Given the description of an element on the screen output the (x, y) to click on. 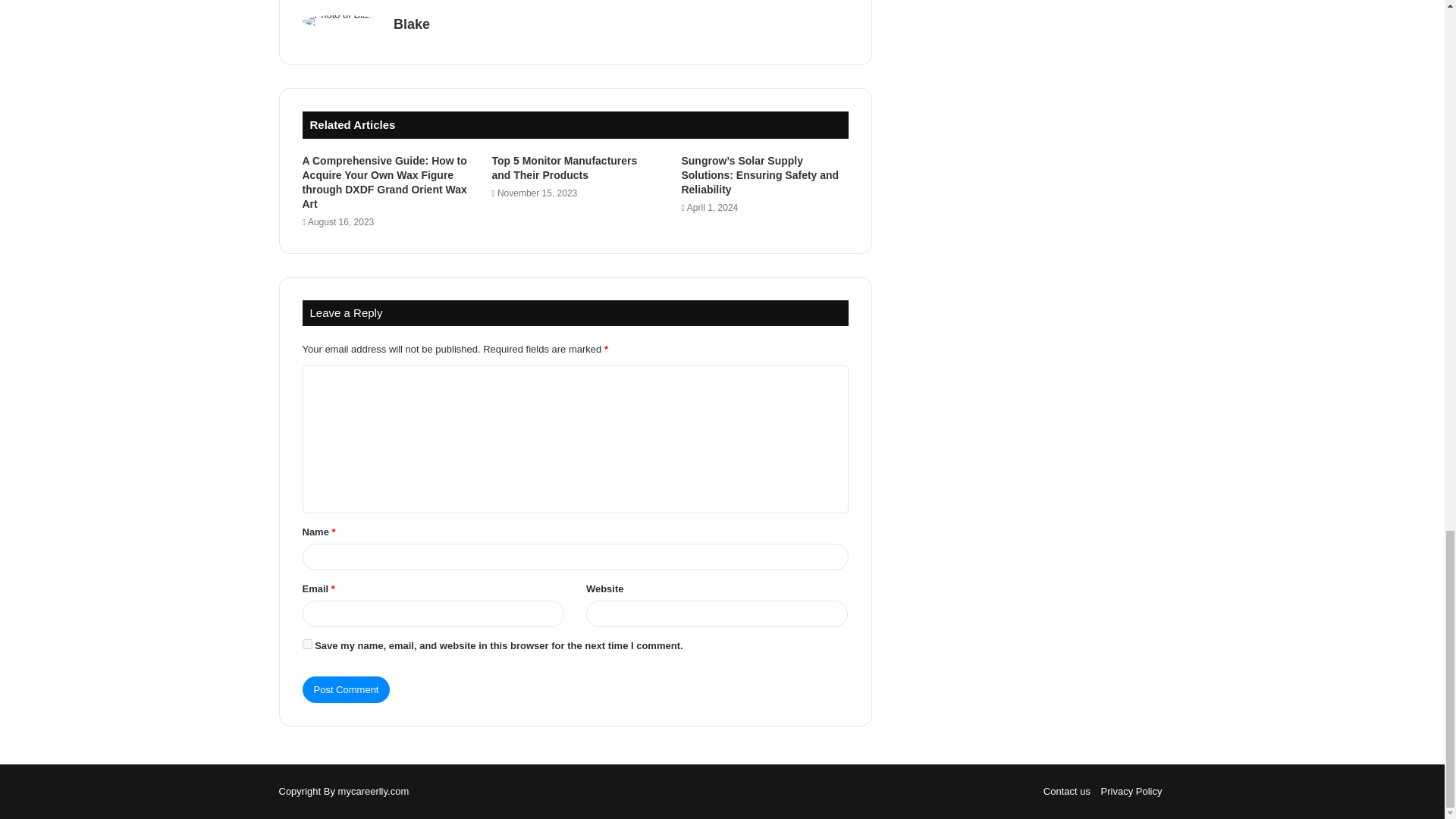
Blake (411, 23)
yes (306, 644)
Post Comment (345, 689)
Post Comment (345, 689)
Top 5 Monitor Manufacturers and Their Products (564, 167)
